Given the description of an element on the screen output the (x, y) to click on. 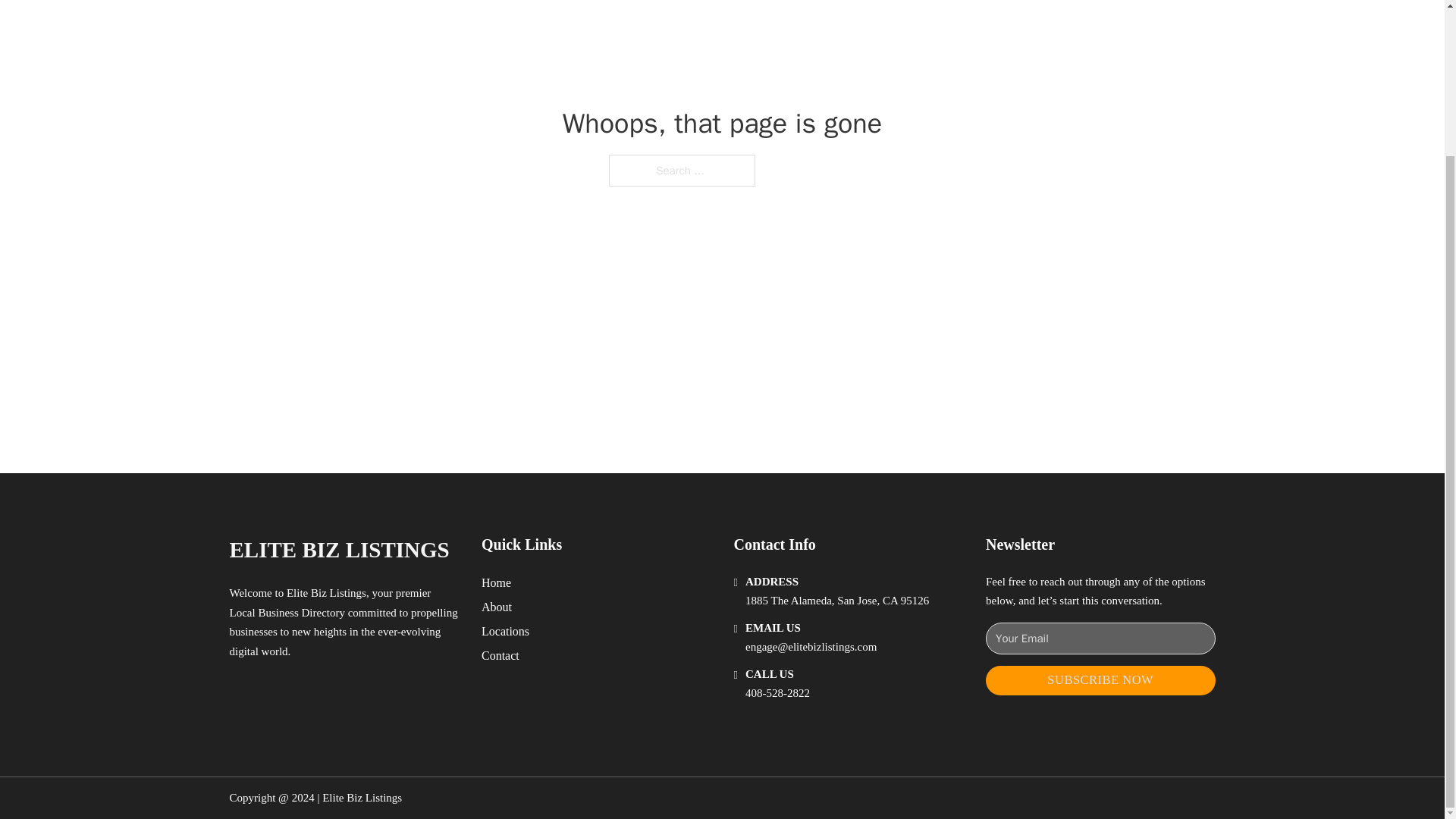
408-528-2822 (777, 693)
SUBSCRIBE NOW (1100, 680)
Contact (500, 655)
Locations (505, 630)
Home (496, 582)
About (496, 607)
ELITE BIZ LISTINGS (338, 549)
